Given the description of an element on the screen output the (x, y) to click on. 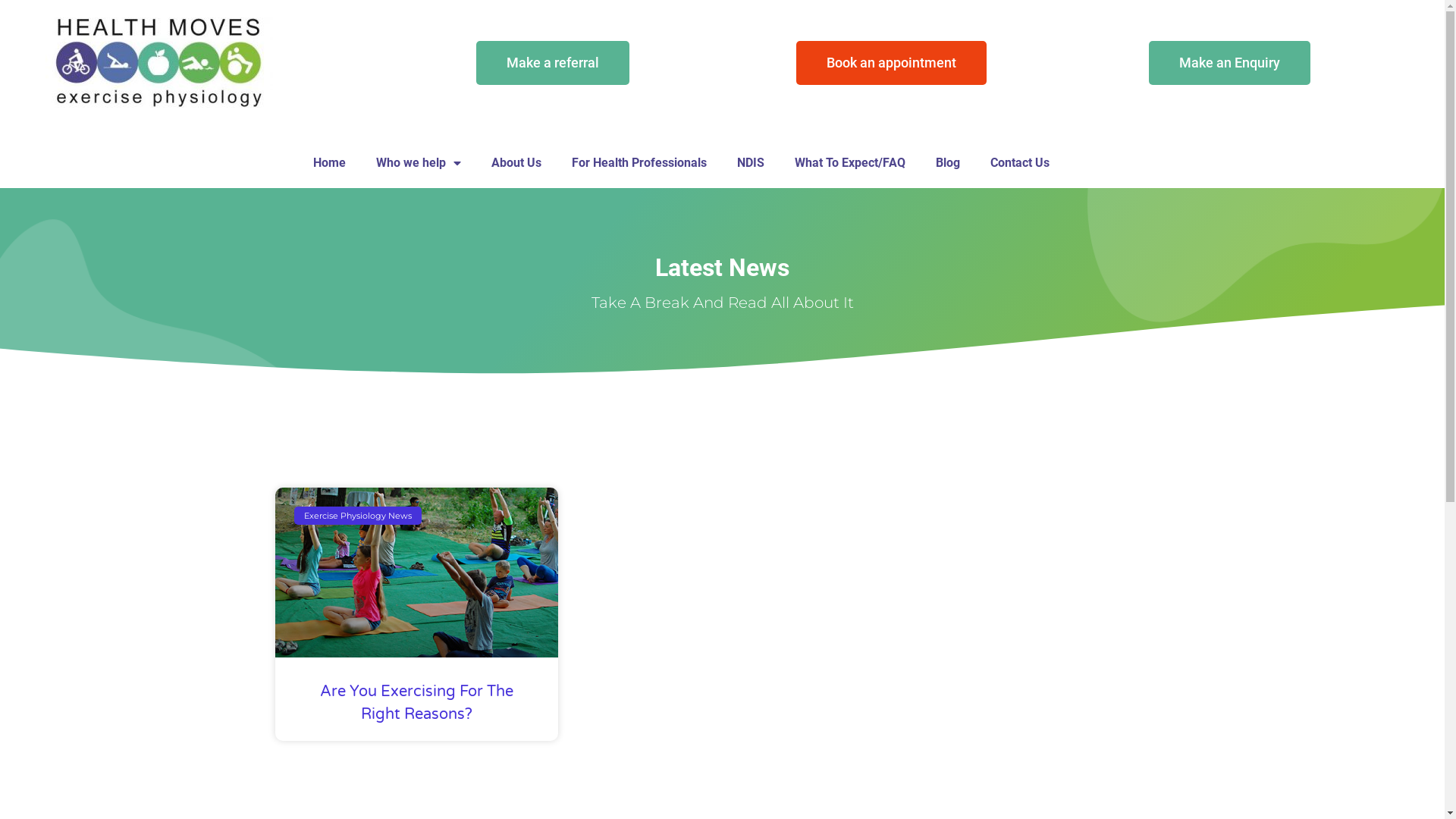
Make an Enquiry Element type: text (1229, 62)
For Health Professionals Element type: text (638, 162)
Are You Exercising For The Right Reasons? Element type: text (416, 702)
Blog Element type: text (947, 162)
What To Expect/FAQ Element type: text (849, 162)
Who we help Element type: text (418, 162)
About Us Element type: text (516, 162)
Book an appointment Element type: text (891, 62)
Contact Us Element type: text (1019, 162)
Make a referral Element type: text (552, 62)
NDIS Element type: text (750, 162)
Home Element type: text (328, 162)
